Given the description of an element on the screen output the (x, y) to click on. 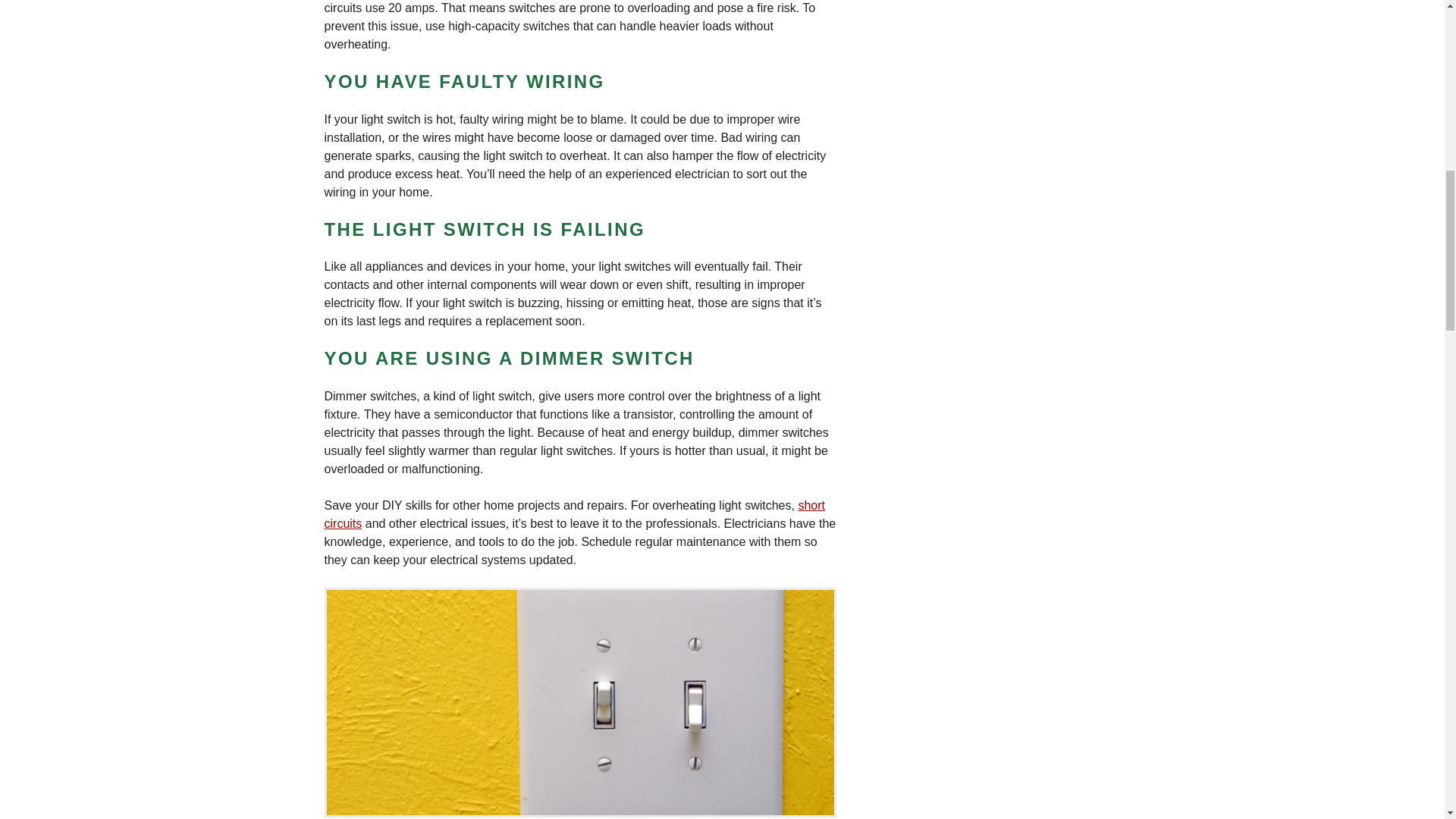
short circuits (574, 513)
